Given the description of an element on the screen output the (x, y) to click on. 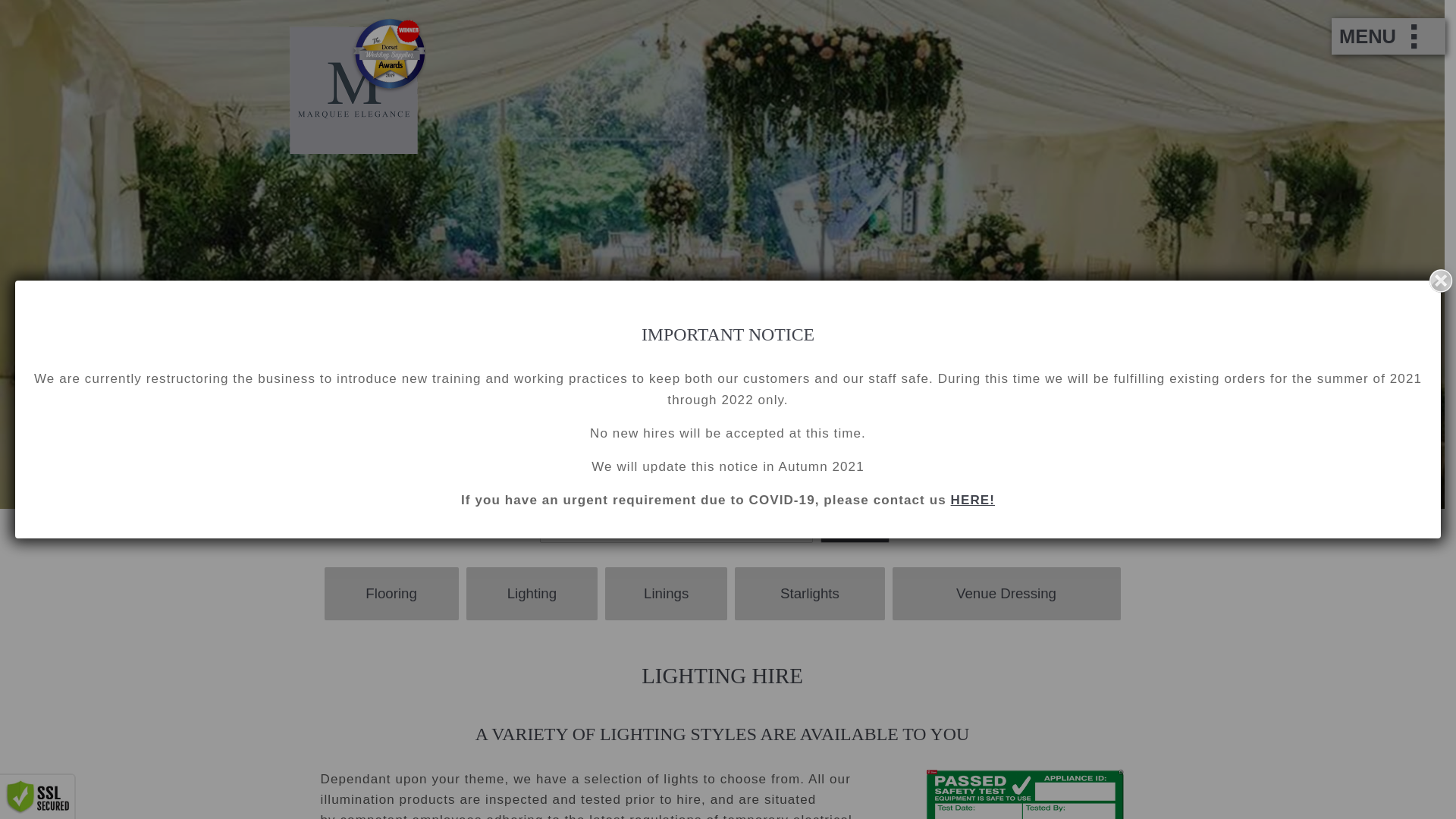
Lighting (530, 593)
Starlights (809, 593)
Covid-19 Emergency Structures (972, 499)
Search (855, 529)
Marquee Elegance Home Page (357, 149)
Flooring (391, 593)
Toggle Navigation (1376, 36)
Venue Dressing (1006, 593)
Linings (665, 593)
